Given the description of an element on the screen output the (x, y) to click on. 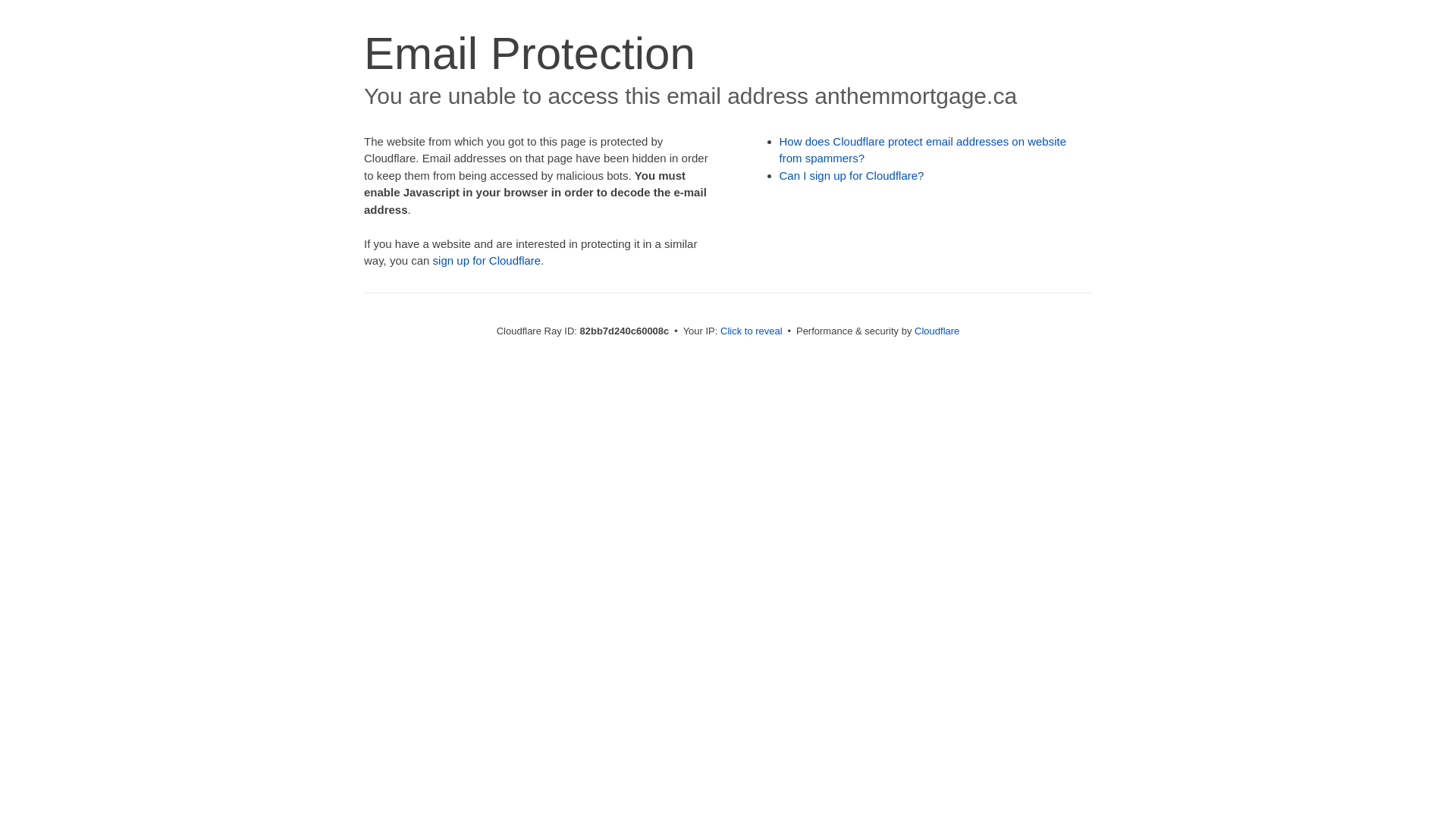
Click to reveal Element type: text (751, 330)
Can I sign up for Cloudflare? Element type: text (851, 175)
Cloudflare Element type: text (936, 330)
sign up for Cloudflare Element type: text (487, 260)
